Given the description of an element on the screen output the (x, y) to click on. 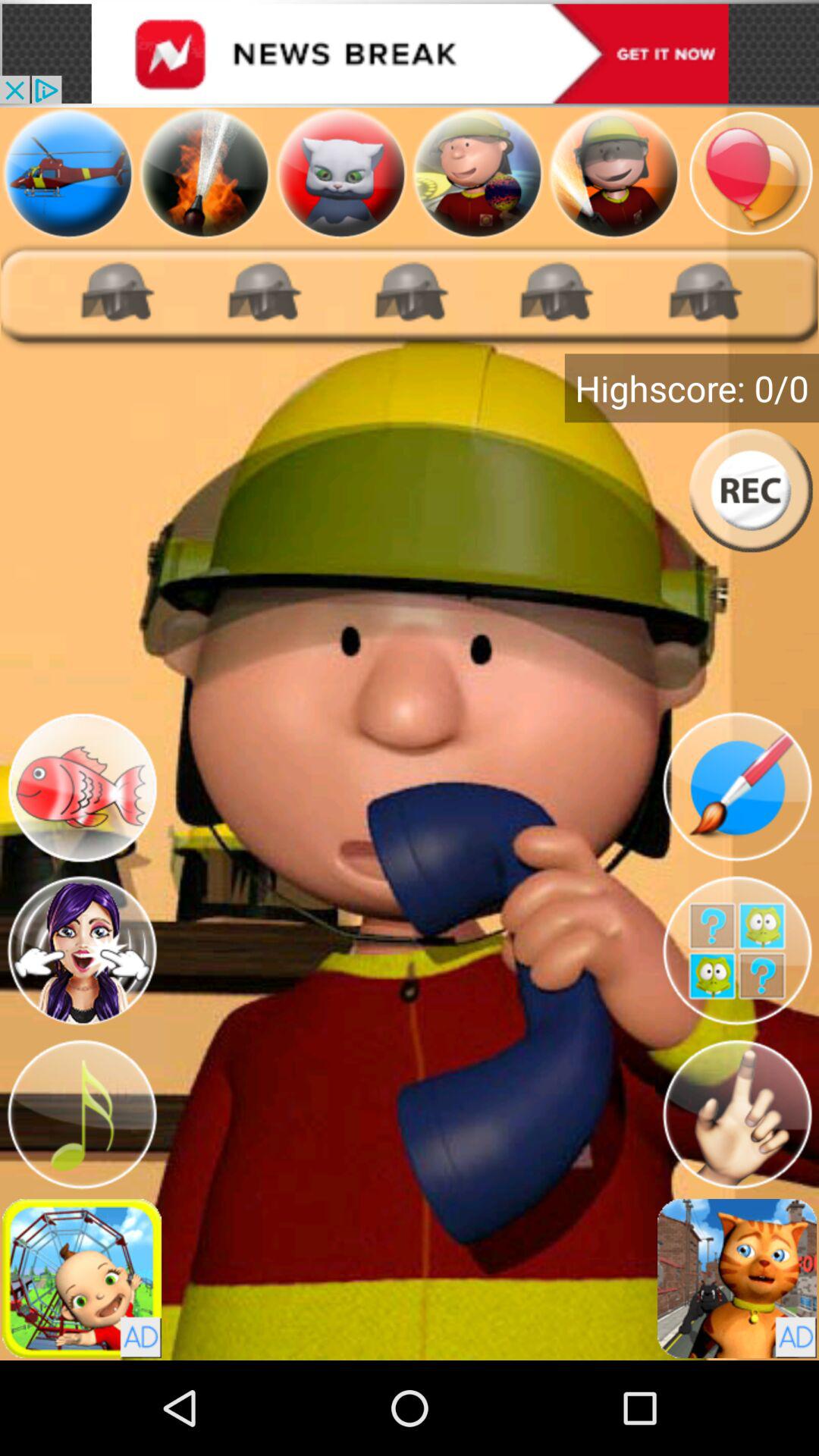
go to link in advertisement (409, 53)
